Given the description of an element on the screen output the (x, y) to click on. 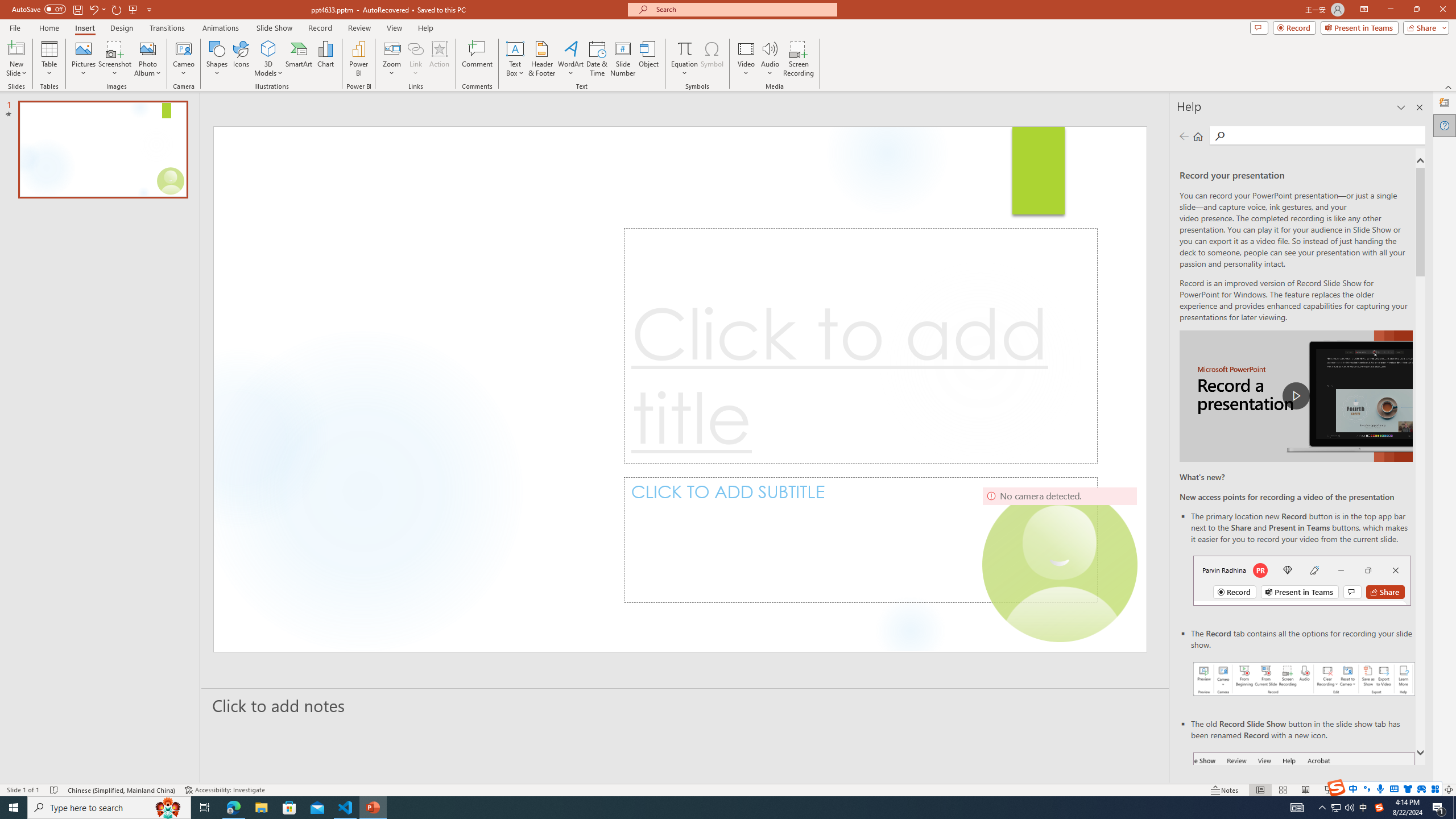
3D Models (268, 48)
Photo Album... (147, 58)
WordArt (570, 58)
Screenshot (114, 58)
SmartArt... (298, 58)
Link (415, 58)
Slide Number (622, 58)
